Given the description of an element on the screen output the (x, y) to click on. 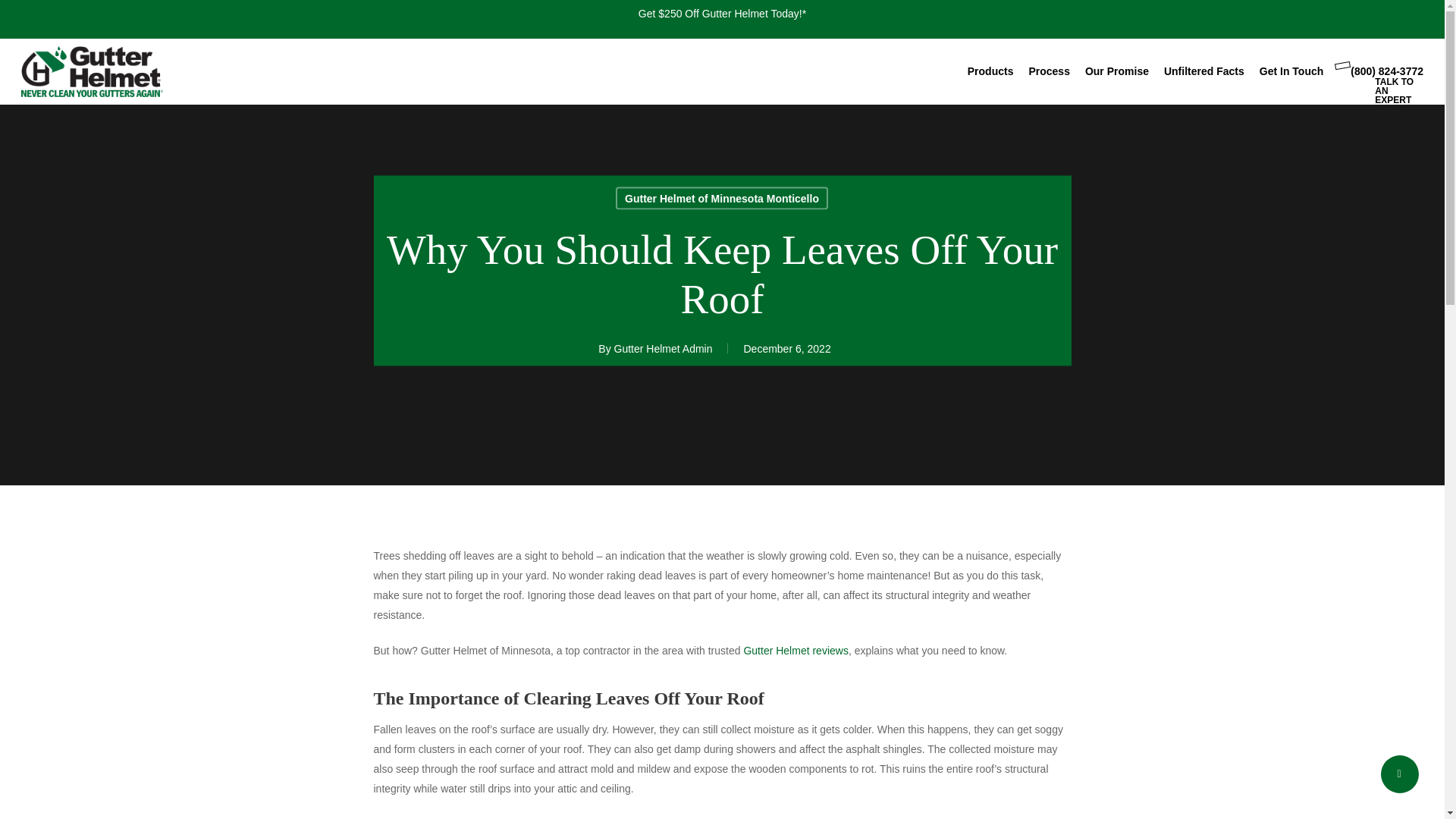
Posts by Gutter Helmet Admin (663, 348)
Products (990, 70)
Unfiltered Facts (1203, 70)
Gutter Helmet Admin (663, 348)
Get In Touch (1291, 70)
Process (1047, 70)
Gutter Helmet reviews (794, 650)
Our Promise (1116, 70)
Gutter Helmet of Minnesota Monticello (721, 197)
